Given the description of an element on the screen output the (x, y) to click on. 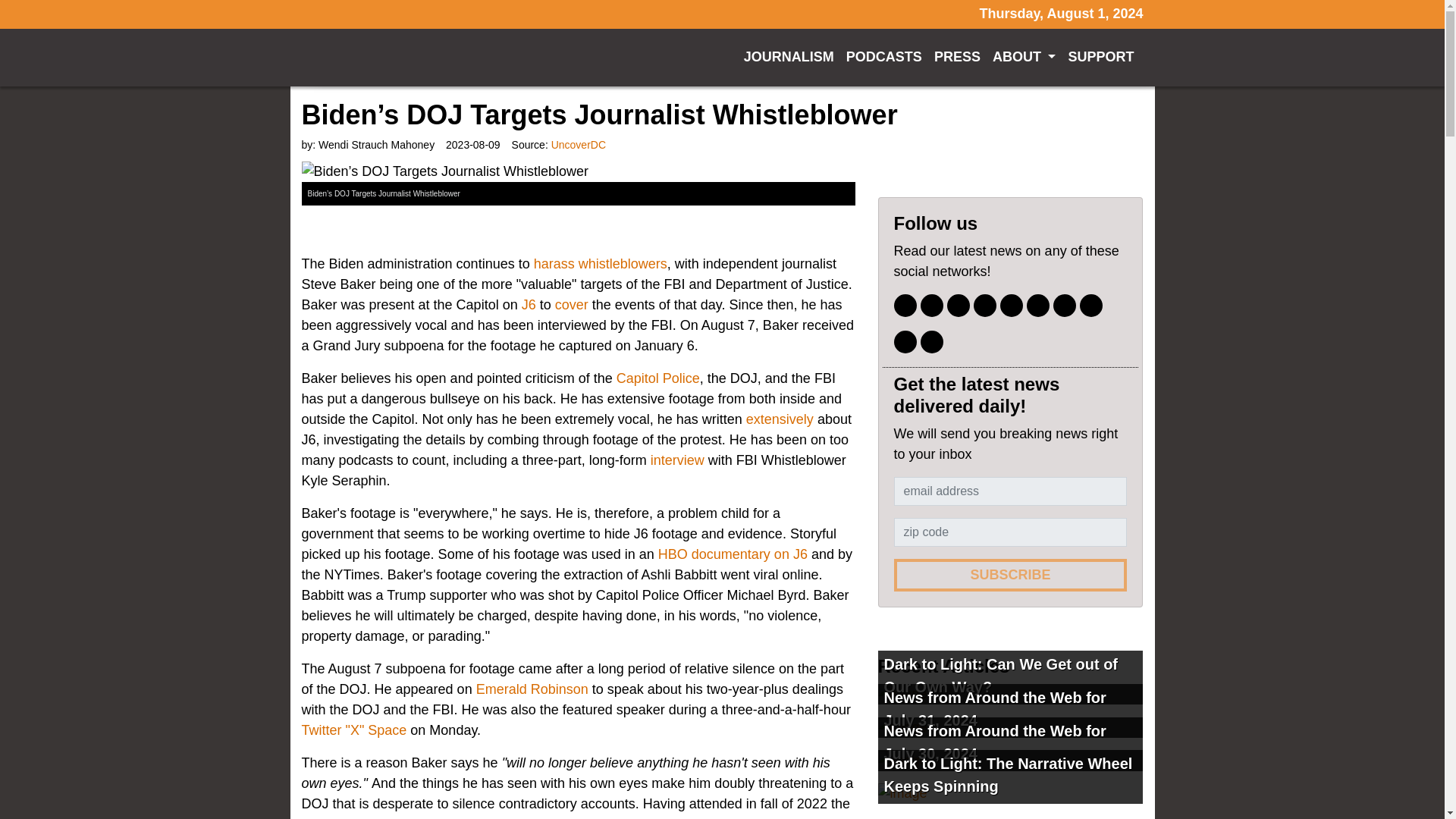
interview (677, 459)
Twitter (931, 305)
Capitol Police (657, 378)
cover (571, 304)
PRESS (957, 56)
Rumble (1037, 305)
 extensively (777, 418)
Instagram (958, 305)
UncoverDC (578, 144)
Telegram (1011, 305)
Locals (904, 341)
harass whistleblowers (600, 263)
RSS (931, 341)
ABOUT (1024, 56)
UncoverDC (430, 57)
